Given the description of an element on the screen output the (x, y) to click on. 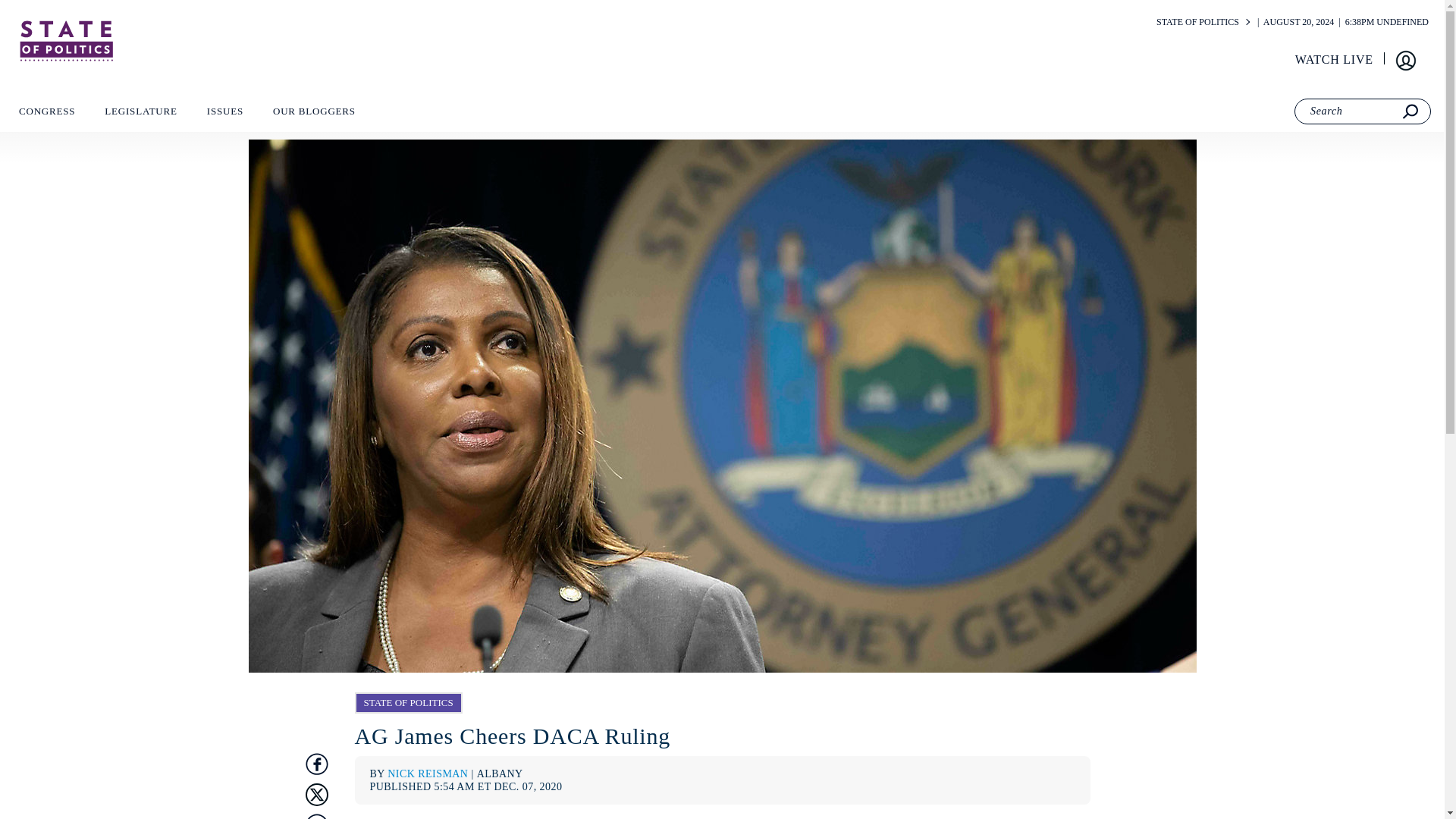
ISSUES (224, 115)
STATE OF POLITICS (1197, 21)
Share with Twitter (315, 793)
LEGISLATURE (140, 115)
OUR BLOGGERS (313, 115)
CONGRESS (46, 115)
Share with Facebook (315, 763)
WATCH LIVE (1334, 59)
Share with Email (315, 816)
